Given the description of an element on the screen output the (x, y) to click on. 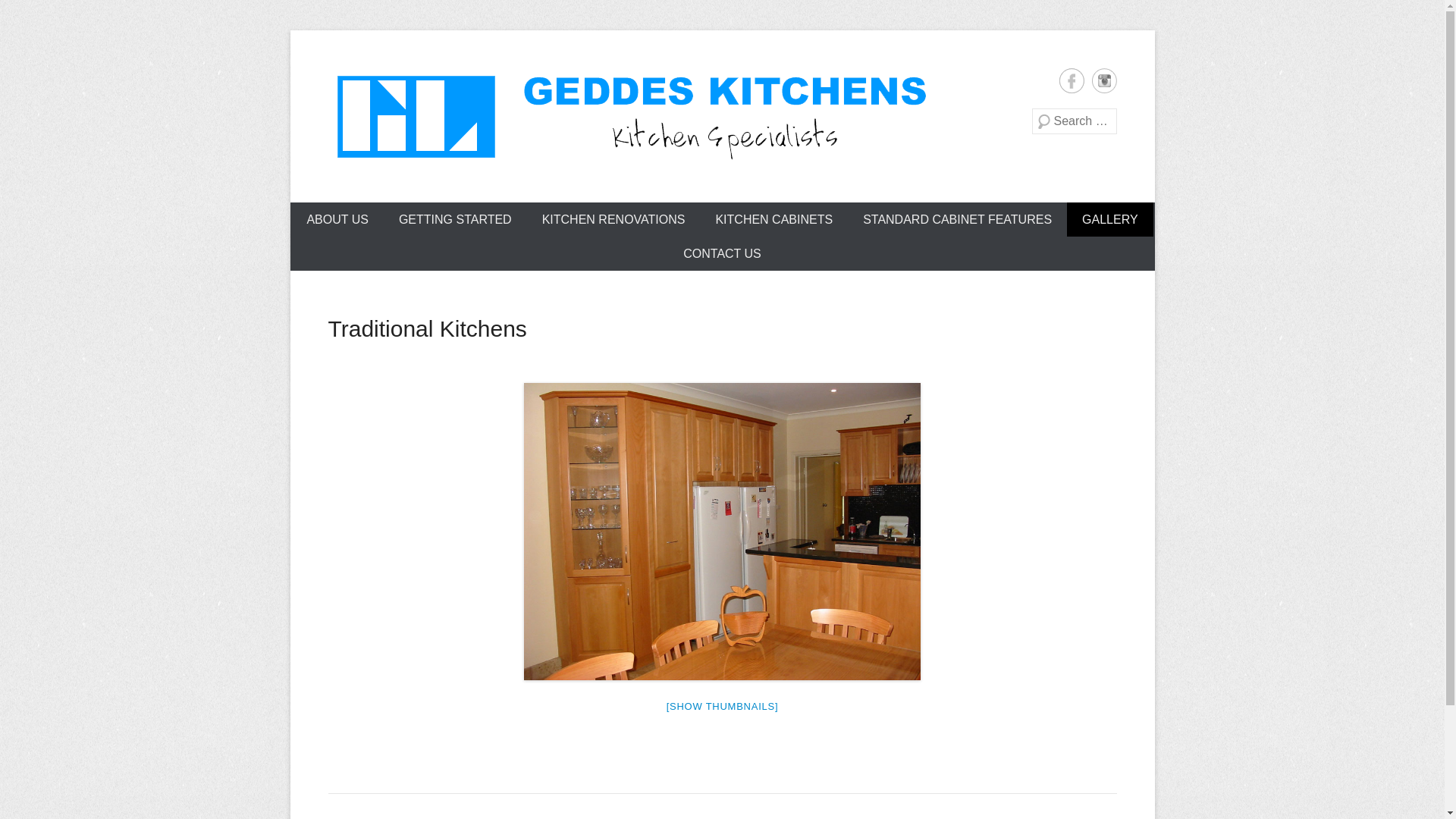
CONTACT US Element type: text (722, 253)
GETTING STARTED Element type: text (455, 219)
GALLERY Element type: text (1109, 219)
Search Element type: text (32, 15)
Geddes Kitchens Element type: text (482, 190)
Geddes Kitchens Element type: hover (630, 116)
KITCHEN CABINETS Element type: text (773, 219)
Traditional Kitchens Element type: text (426, 328)
Skip to content Element type: text (329, 212)
STANDARD CABINET FEATURES Element type: text (956, 219)
Facebook Element type: text (1070, 80)
[SHOW THUMBNAILS] Element type: text (722, 706)
KITCHEN RENOVATIONS Element type: text (613, 219)
Instagram Element type: text (1104, 80)
ABOUT US Element type: text (337, 219)
